Given the description of an element on the screen output the (x, y) to click on. 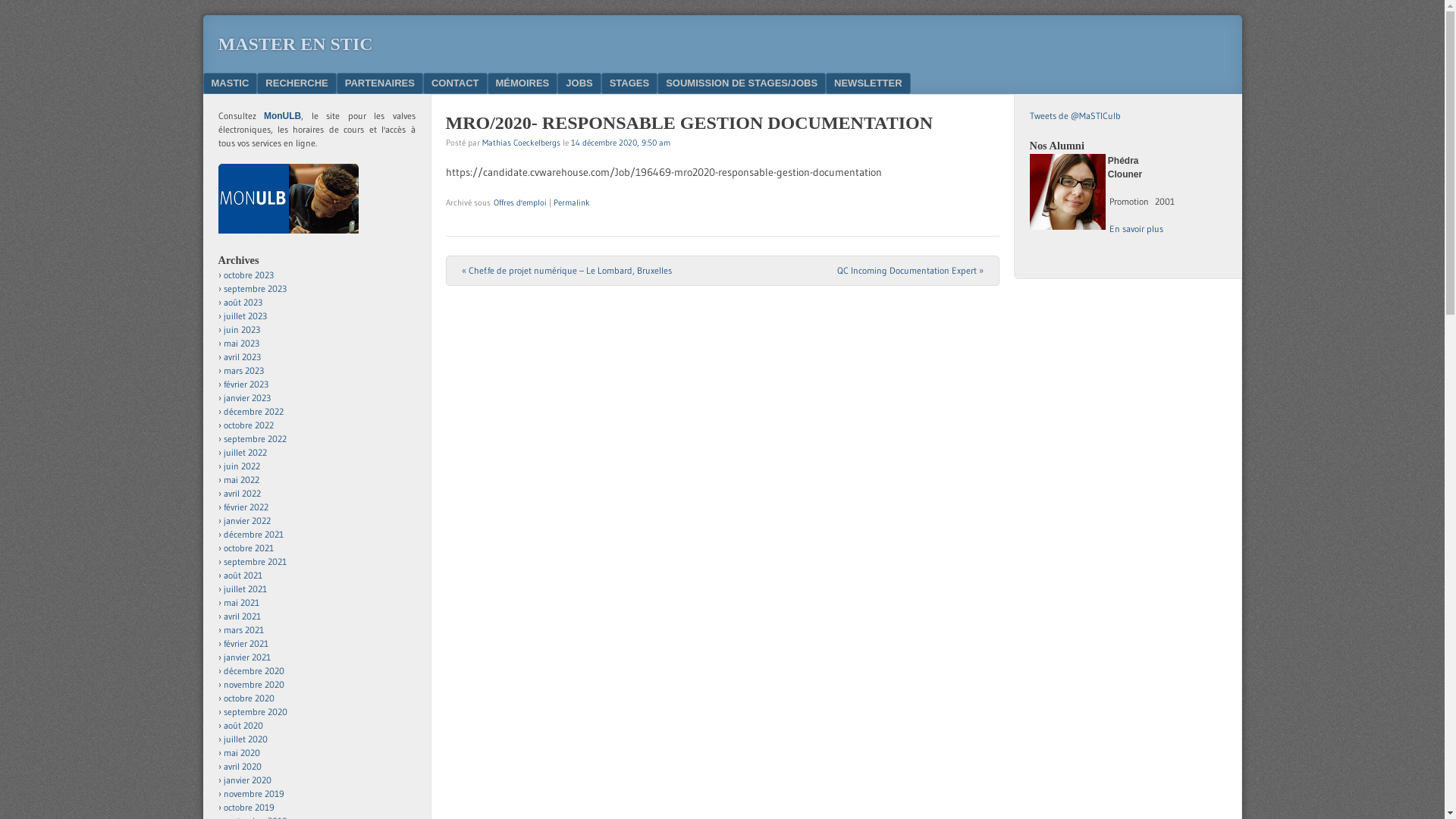
juin 2023 Element type: text (240, 329)
novembre 2019 Element type: text (252, 793)
octobre 2023 Element type: text (247, 274)
septembre 2021 Element type: text (253, 561)
avril 2021 Element type: text (241, 615)
septembre 2020 Element type: text (254, 711)
avril 2023 Element type: text (241, 356)
mai 2020 Element type: text (240, 752)
avril 2020 Element type: text (241, 765)
Offres d'emploi Element type: text (519, 202)
 En savoir plus Element type: text (1134, 228)
janvier 2022 Element type: text (245, 520)
JOBS Element type: text (578, 83)
Mathias Coeckelbergs Element type: text (521, 141)
octobre 2021 Element type: text (247, 547)
mai 2021 Element type: text (240, 602)
novembre 2020 Element type: text (252, 684)
octobre 2019 Element type: text (247, 806)
SKIP TO CONTENT Element type: text (256, 83)
MASTER EN STIC Element type: text (295, 43)
mars 2021 Element type: text (242, 629)
janvier 2021 Element type: text (245, 656)
octobre 2022 Element type: text (247, 424)
juillet 2023 Element type: text (244, 315)
mars 2023 Element type: text (242, 370)
octobre 2020 Element type: text (247, 697)
septembre 2023 Element type: text (253, 288)
juin 2022 Element type: text (240, 465)
CONTACT Element type: text (455, 83)
MonULB Element type: text (282, 114)
SOUMISSION DE STAGES/JOBS Element type: text (741, 83)
avril 2022 Element type: text (241, 492)
janvier 2023 Element type: text (245, 397)
mai 2022 Element type: text (240, 479)
juillet 2021 Element type: text (244, 588)
Tweets de @MaSTICulb Element type: text (1074, 114)
PARTENAIRES Element type: text (379, 83)
septembre 2022 Element type: text (253, 438)
Permalink Element type: text (571, 202)
MASTIC Element type: text (230, 83)
mai 2023 Element type: text (240, 342)
juillet 2022 Element type: text (244, 452)
STAGES Element type: text (629, 83)
RECHERCHE Element type: text (296, 83)
janvier 2020 Element type: text (246, 779)
juillet 2020 Element type: text (244, 738)
NEWSLETTER Element type: text (867, 83)
